Given the description of an element on the screen output the (x, y) to click on. 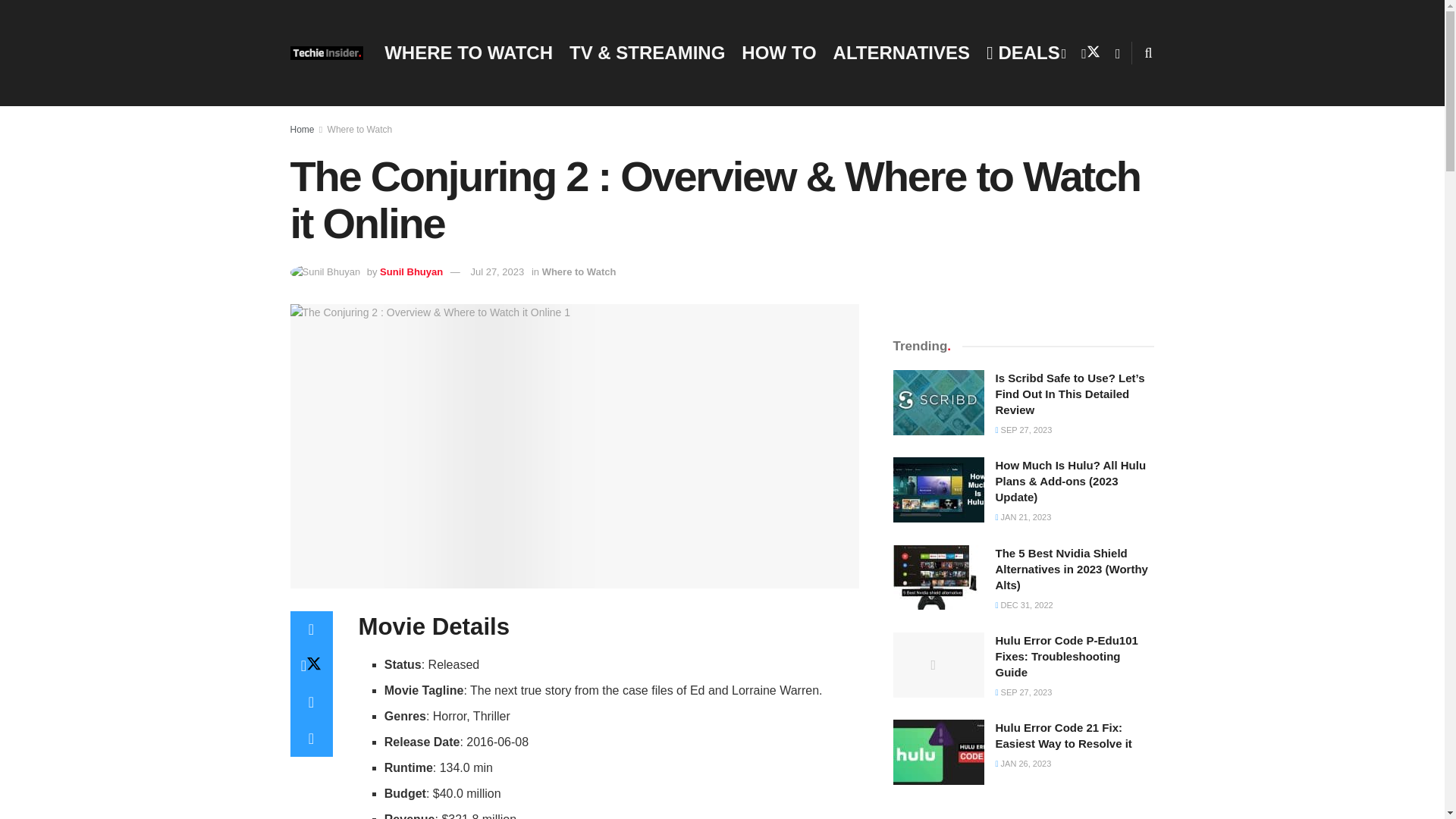
Where to Watch (360, 129)
Sunil Bhuyan (411, 271)
Jul 27, 2023 (497, 271)
HOW TO (778, 52)
Home (301, 129)
Where to Watch (578, 271)
WHERE TO WATCH (468, 52)
ALTERNATIVES (900, 52)
